Given the description of an element on the screen output the (x, y) to click on. 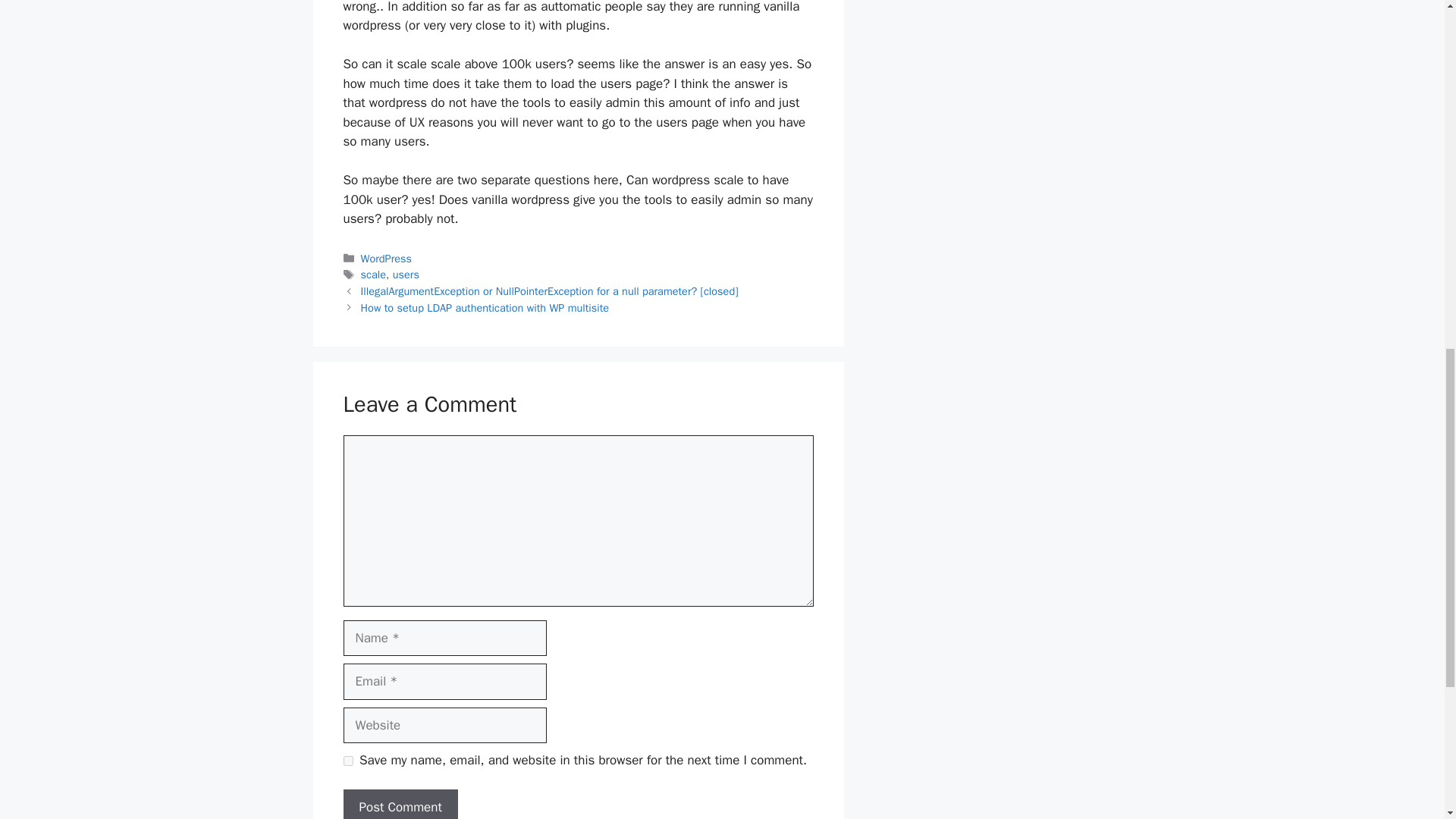
Previous (549, 291)
Post Comment (399, 804)
yes (347, 760)
Next (485, 307)
WordPress (386, 258)
Post Comment (399, 804)
users (406, 274)
How to setup LDAP authentication with WP multisite (485, 307)
scale (373, 274)
